Given the description of an element on the screen output the (x, y) to click on. 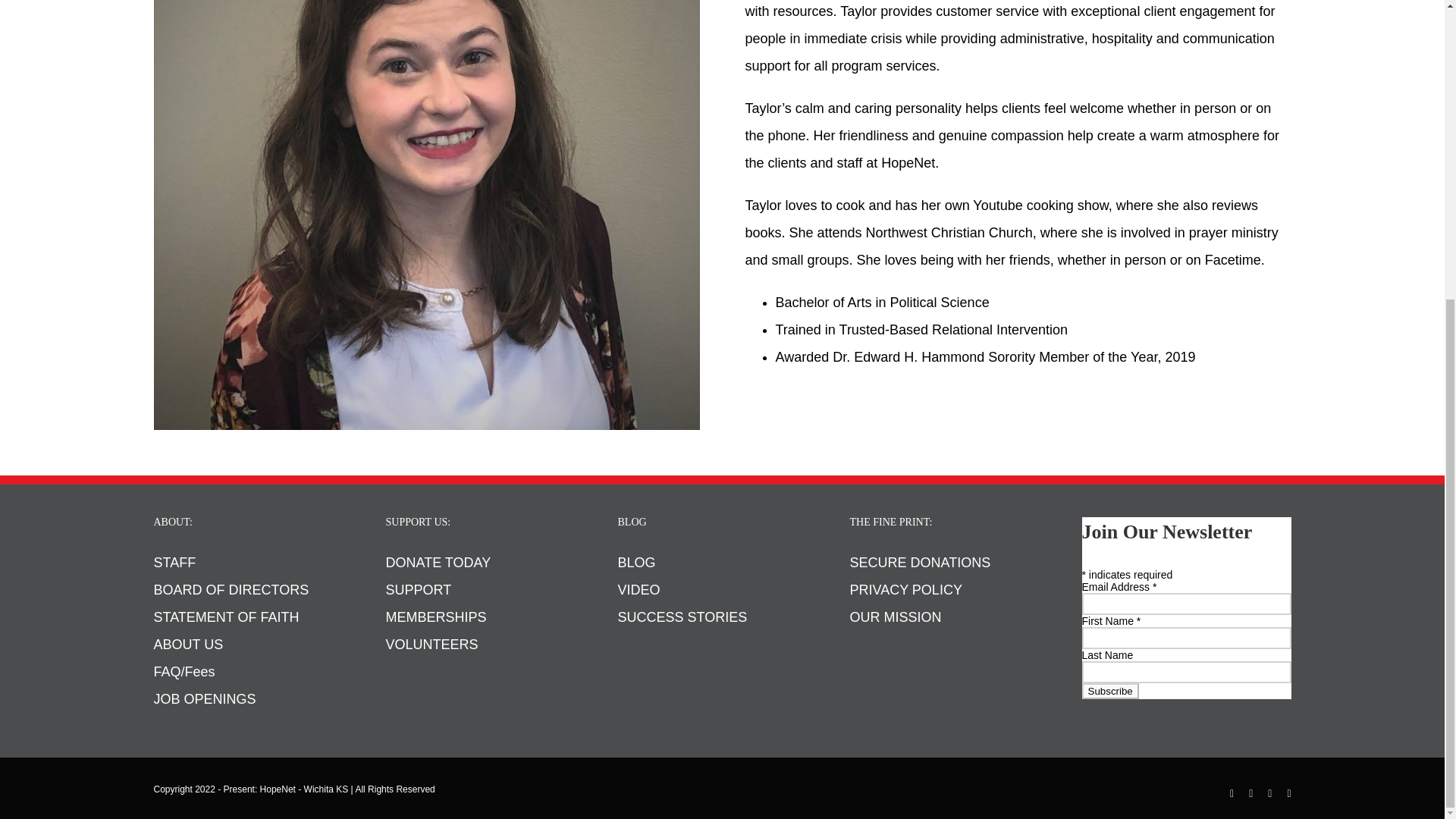
Subscribe (1109, 691)
